Given the description of an element on the screen output the (x, y) to click on. 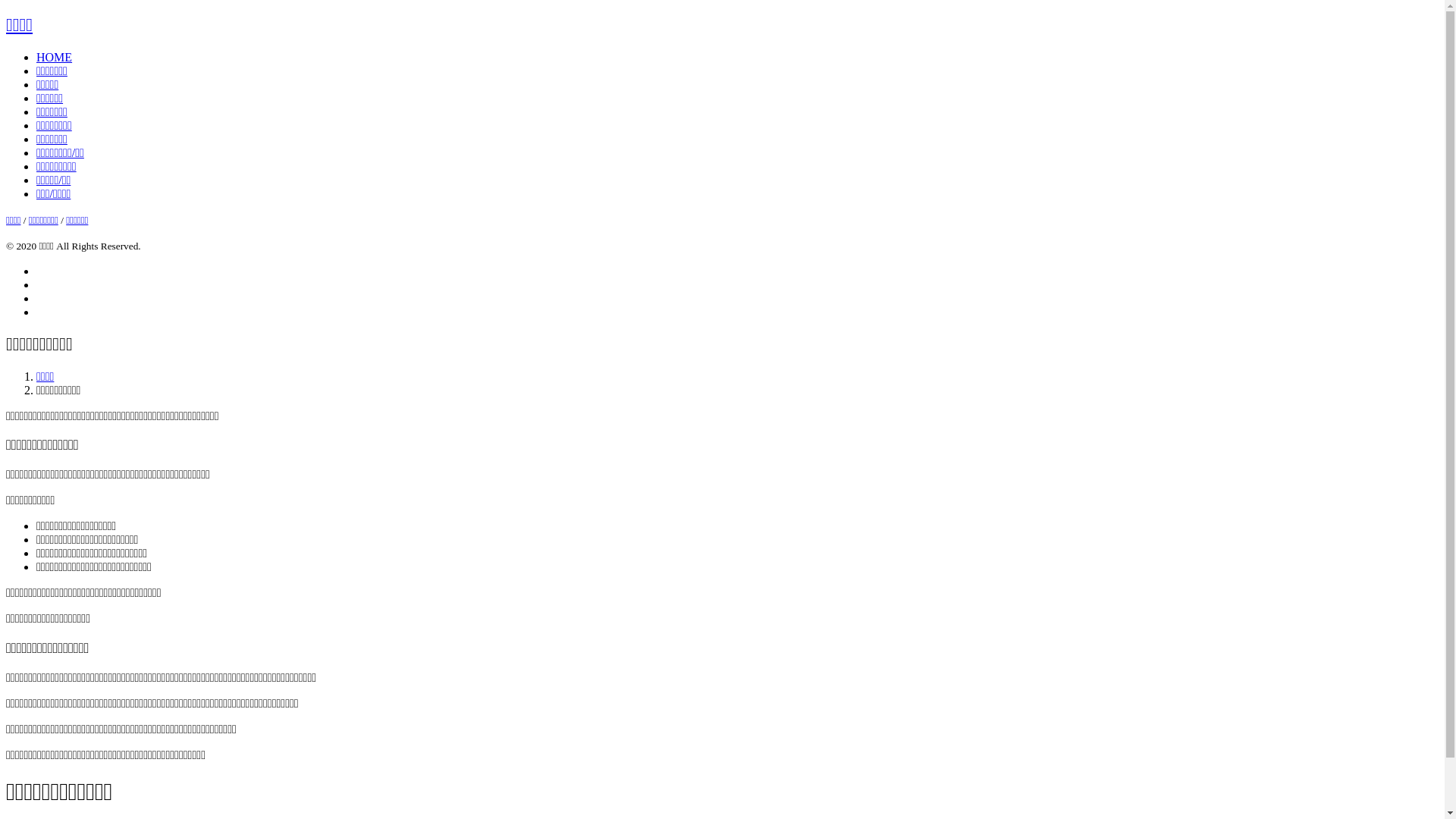
HOME Element type: text (54, 56)
